Given the description of an element on the screen output the (x, y) to click on. 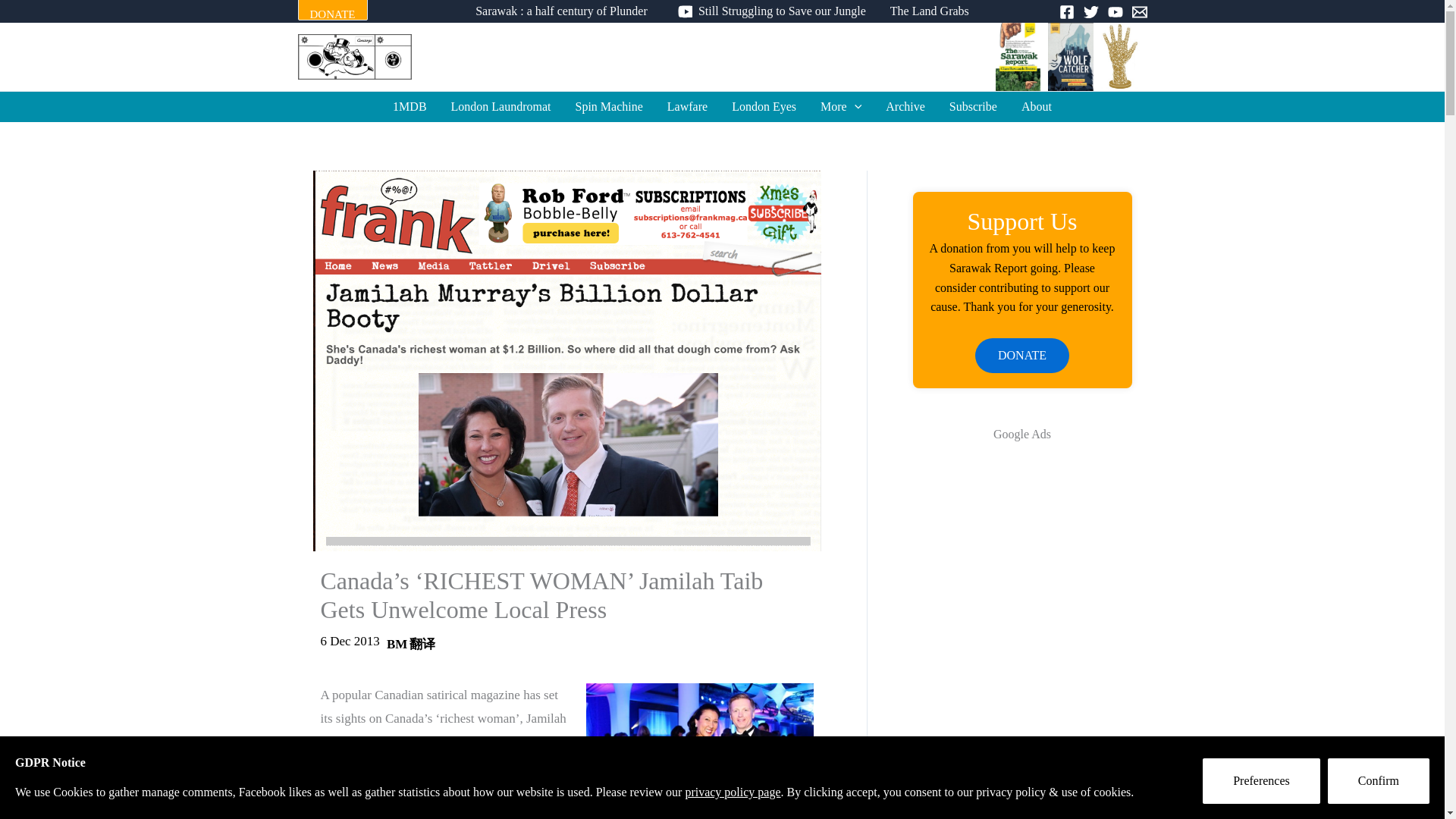
London Laundromat (501, 106)
More (840, 106)
Still Struggling to Save our Jungle (768, 11)
The Land Grabs (929, 11)
SarawakReport (722, 56)
Sarawak : a half century of Plunder (561, 11)
Subscribe (973, 106)
DONATE (331, 14)
1MDB (409, 106)
About (1036, 106)
Archive (905, 106)
London Eyes (763, 106)
Lawfare (687, 106)
DONATE (331, 10)
Spin Machine (609, 106)
